Given the description of an element on the screen output the (x, y) to click on. 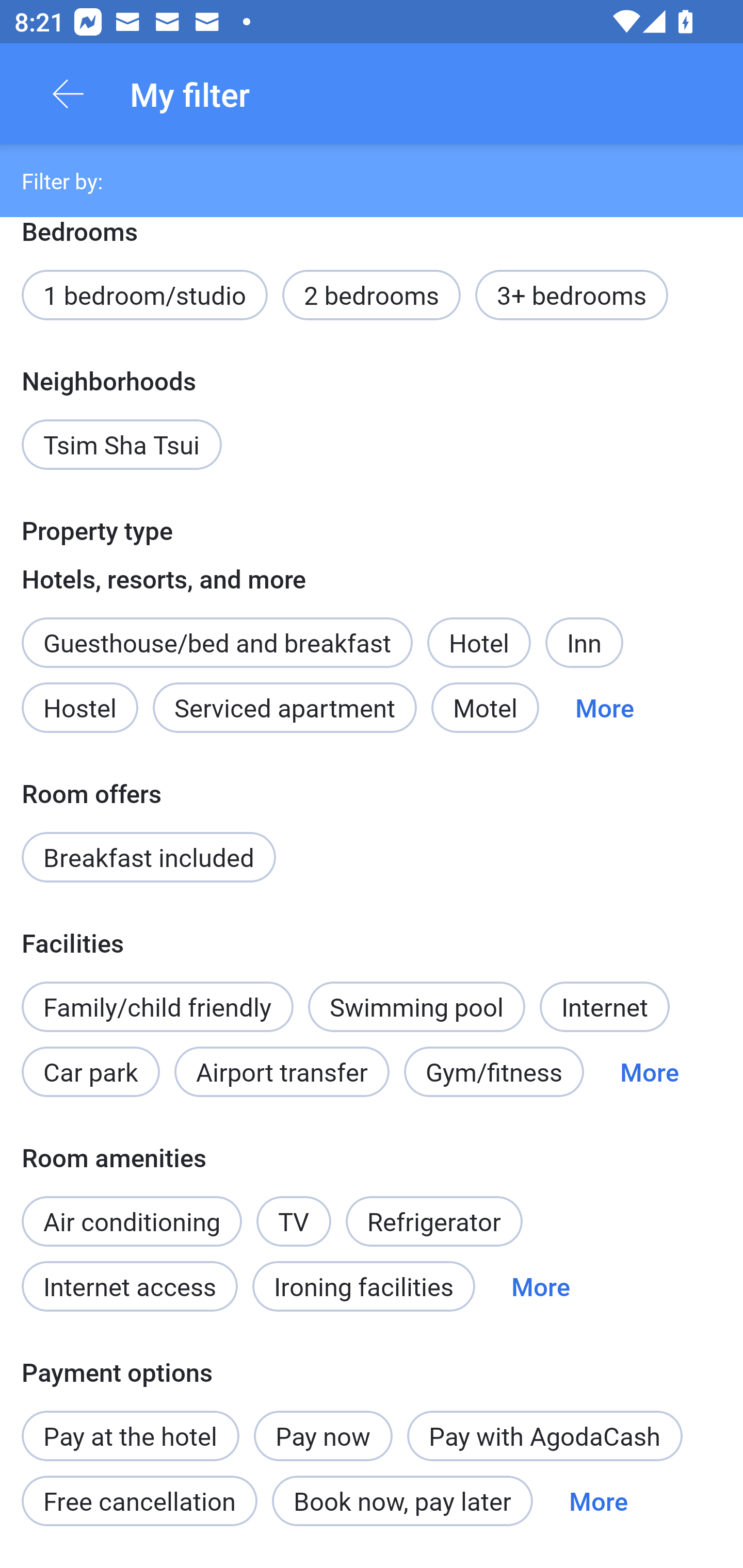
1 bedroom/studio (144, 295)
2 bedrooms (371, 295)
3+ bedrooms (571, 295)
Tsim Sha Tsui (121, 444)
Guesthouse/bed and breakfast (217, 642)
Hotel (479, 642)
Inn (583, 642)
Hostel (79, 707)
Serviced apartment (284, 707)
Motel (485, 707)
More (604, 707)
Breakfast included (148, 856)
Family/child friendly (157, 1006)
Swimming pool (416, 1006)
Internet (604, 1006)
Car park (90, 1071)
Airport transfer (281, 1071)
Gym/fitness (493, 1071)
More (649, 1071)
Air conditioning (131, 1221)
TV (294, 1221)
Refrigerator (433, 1221)
Internet access (129, 1286)
Ironing facilities (363, 1286)
More (540, 1286)
Pay at the hotel (130, 1425)
Pay now (323, 1435)
Pay with AgodaCash (544, 1435)
Free cancellation (139, 1501)
Book now, pay later (401, 1501)
More (598, 1501)
